Given the description of an element on the screen output the (x, y) to click on. 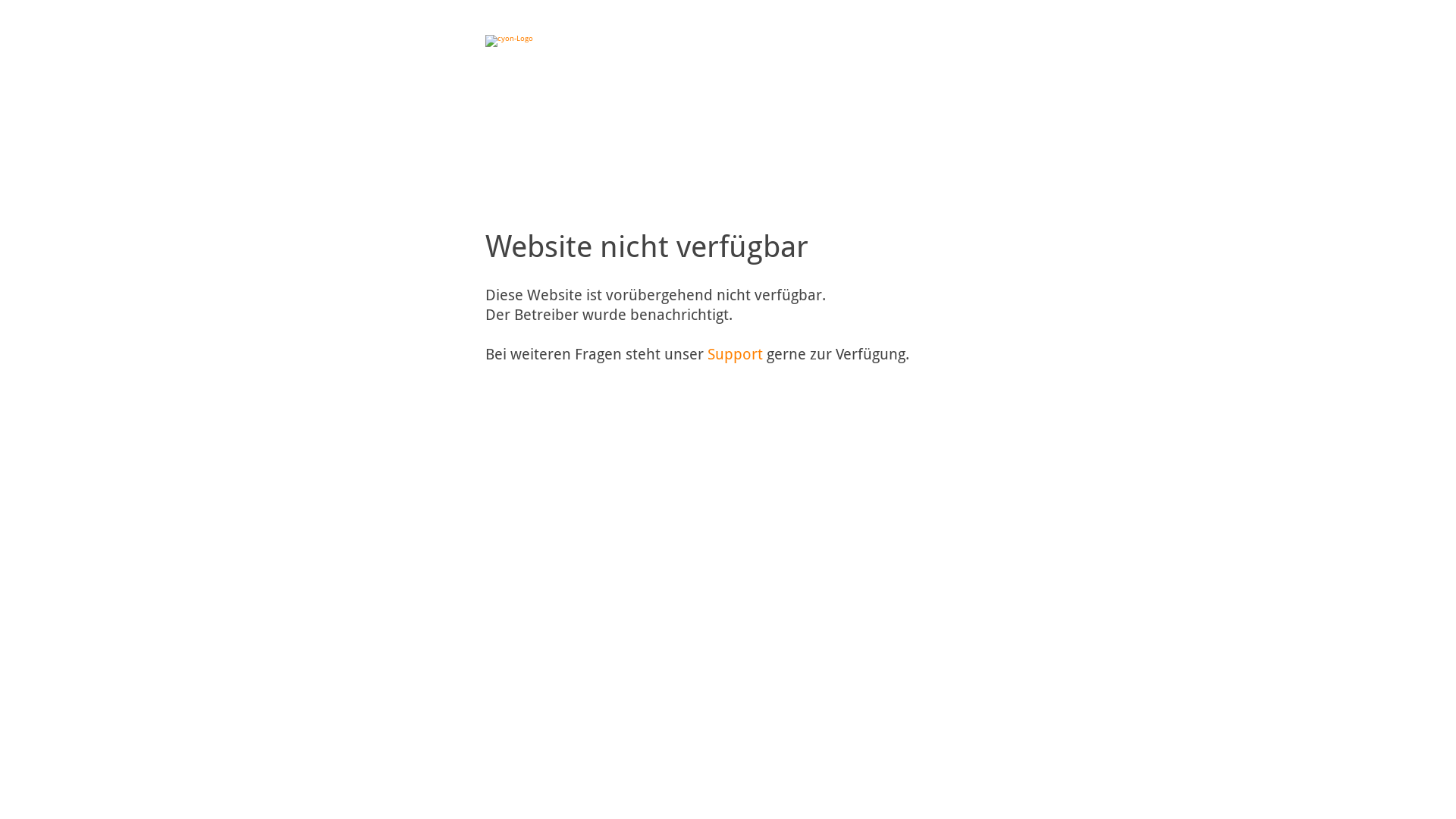
Support Element type: text (734, 354)
